Given the description of an element on the screen output the (x, y) to click on. 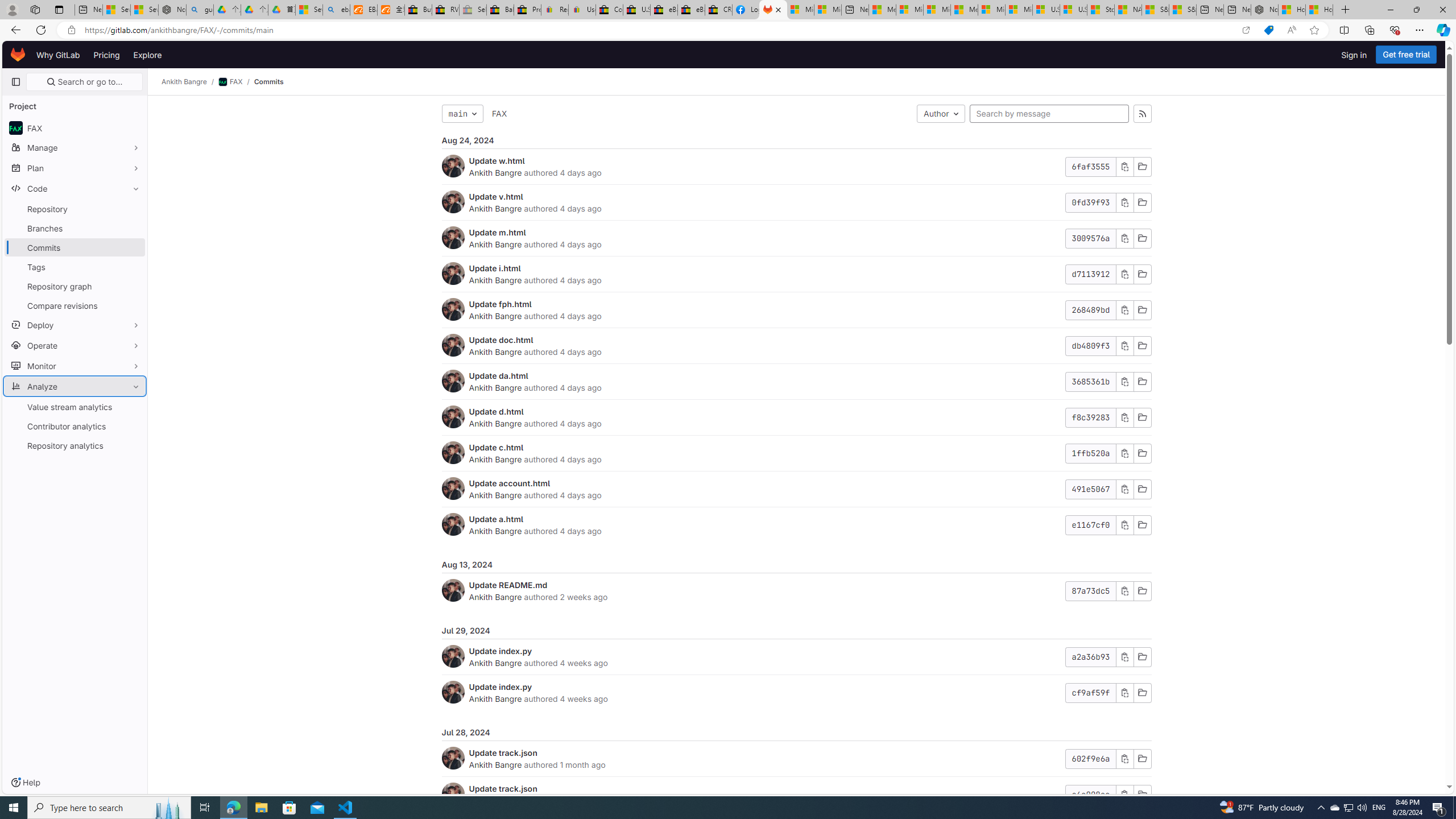
Explore (146, 54)
Ankith Bangre's avatar (452, 793)
Update i.html (494, 267)
Branches (74, 227)
FAX (499, 113)
Value stream analytics (74, 406)
Contributor analytics (74, 425)
Plan (74, 167)
Code (74, 188)
Browse Files (1141, 794)
Update fph.htmlAnkith Bangre authored 4 days ago268489bd (796, 310)
Get free trial (1406, 54)
